Given the description of an element on the screen output the (x, y) to click on. 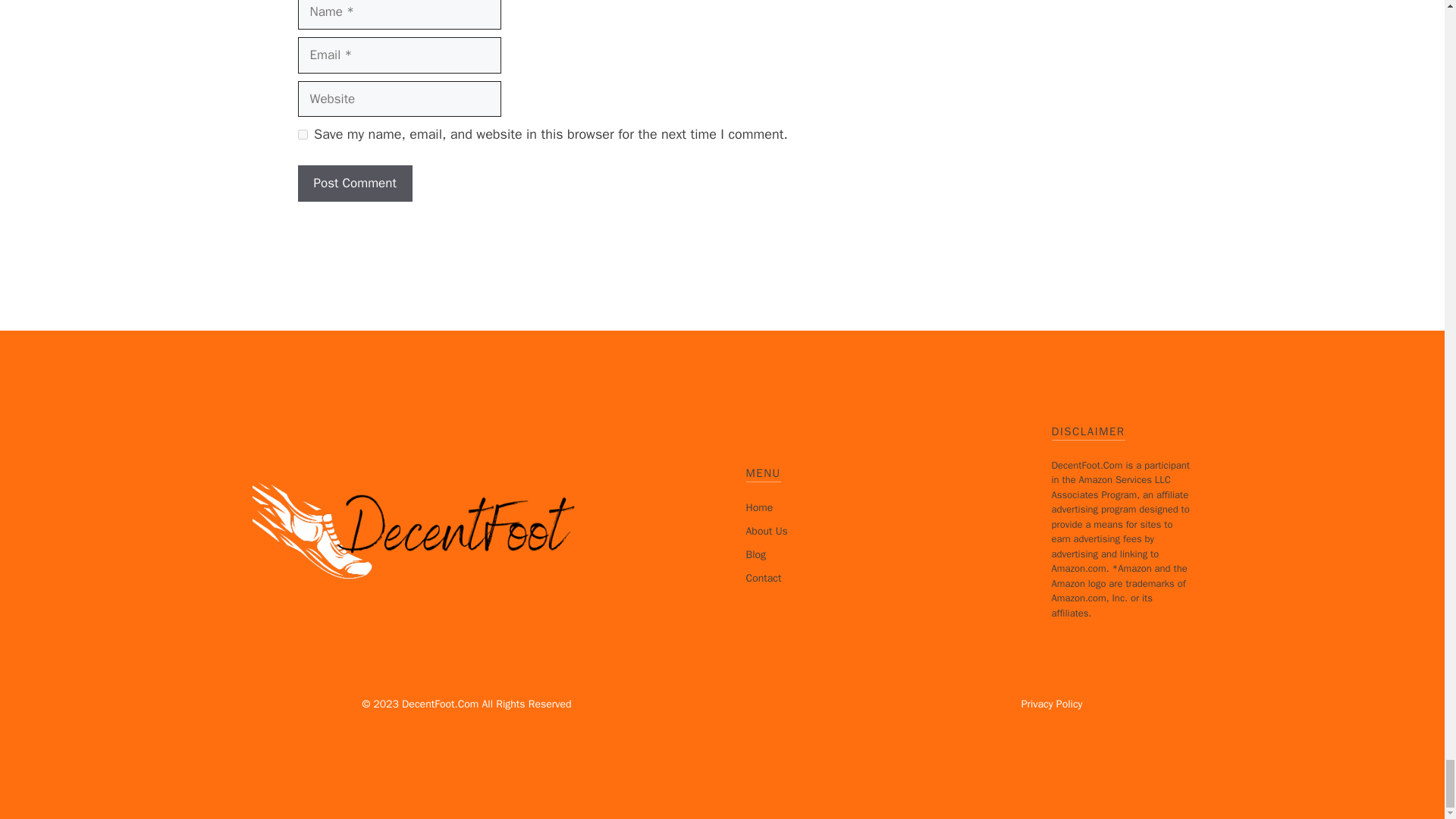
yes (302, 134)
Post Comment (354, 183)
